Given the description of an element on the screen output the (x, y) to click on. 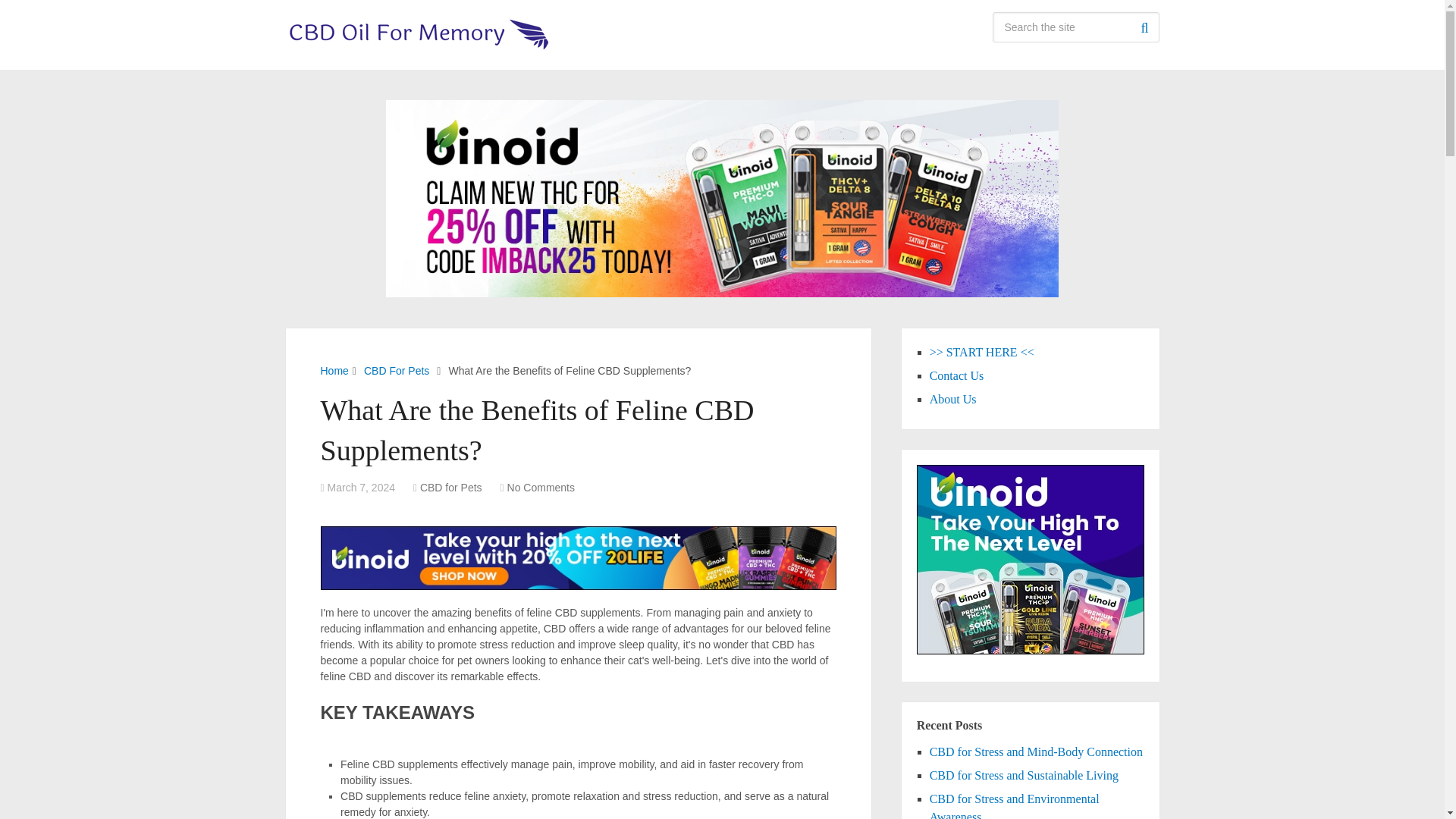
View all posts in CBD for Pets (450, 487)
No Comments (540, 487)
Contact Us (957, 375)
Search (1143, 27)
CBD for Stress and Mind-Body Connection (1036, 751)
About Us (953, 399)
Home (333, 370)
CBD for Stress and Sustainable Living (1024, 775)
CBD for Stress and Environmental Awareness (1014, 805)
CBD for Pets (450, 487)
CBD For Pets (396, 370)
